Given the description of an element on the screen output the (x, y) to click on. 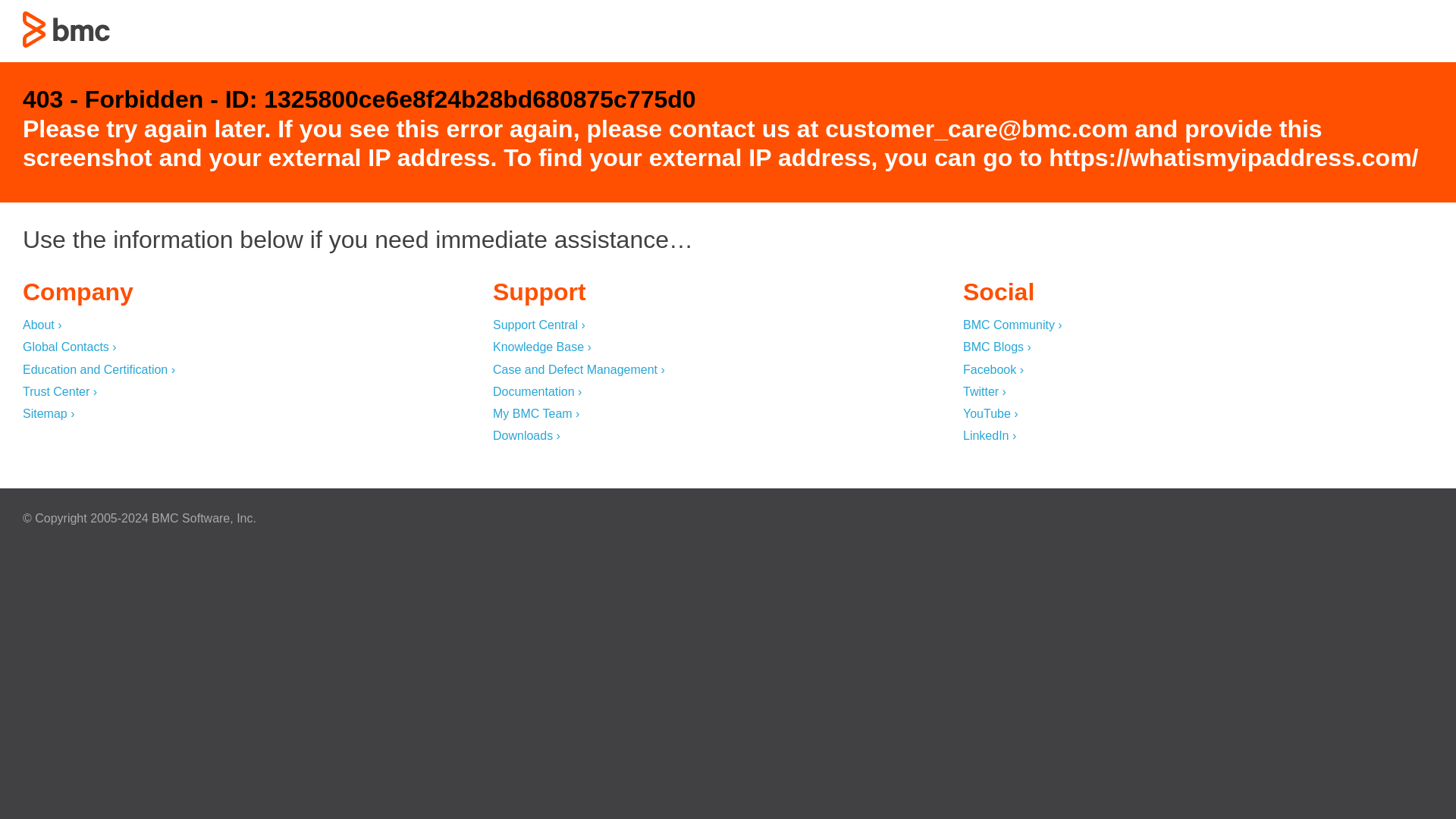
403 - Forbidden (66, 29)
